Given the description of an element on the screen output the (x, y) to click on. 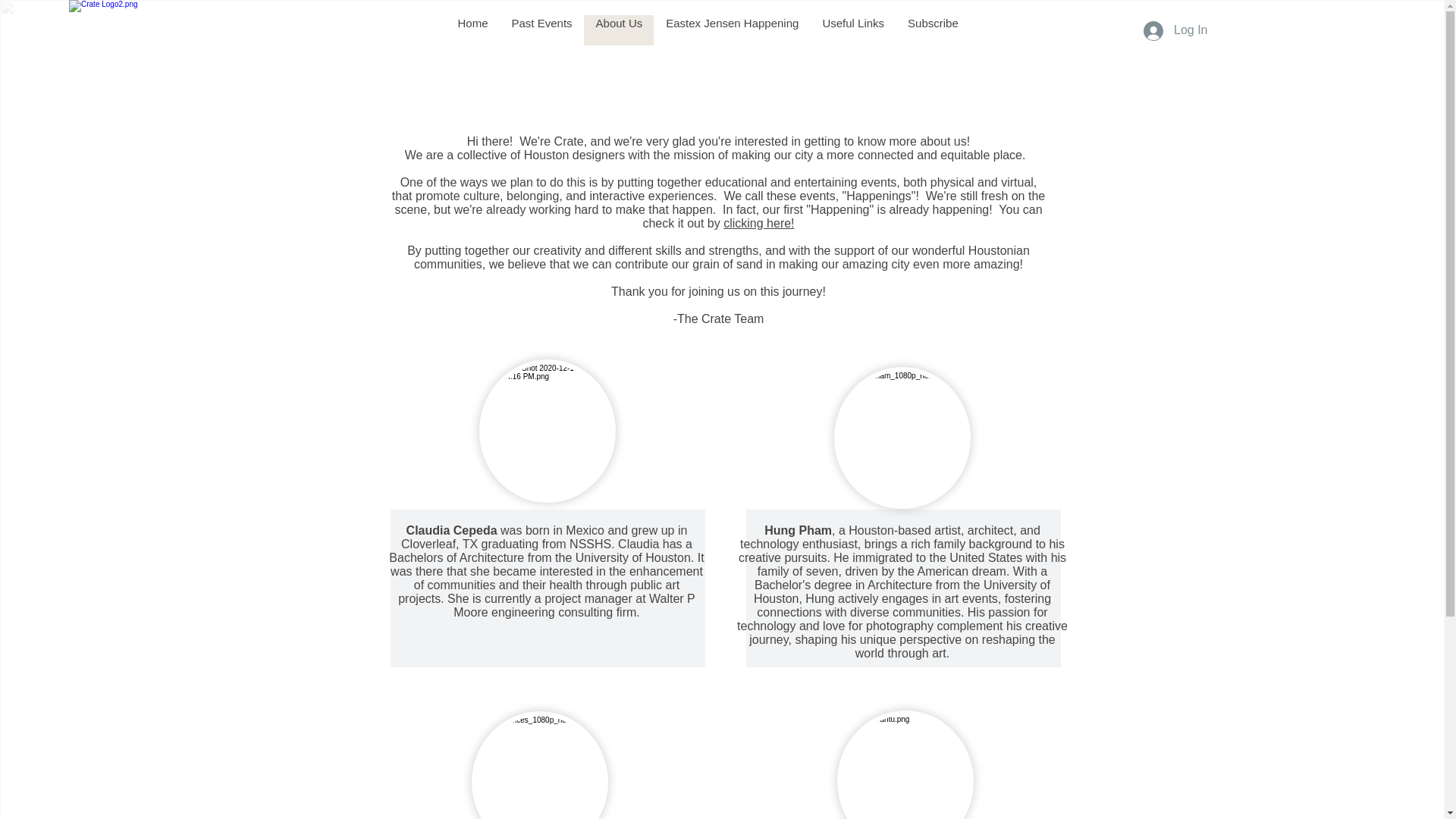
Eastex Jensen Happening (731, 30)
Home (472, 30)
About Us (618, 30)
clicking here! (758, 223)
Past Events (541, 30)
Useful Links (852, 30)
Subscribe (932, 30)
Log In (1174, 30)
